Given the description of an element on the screen output the (x, y) to click on. 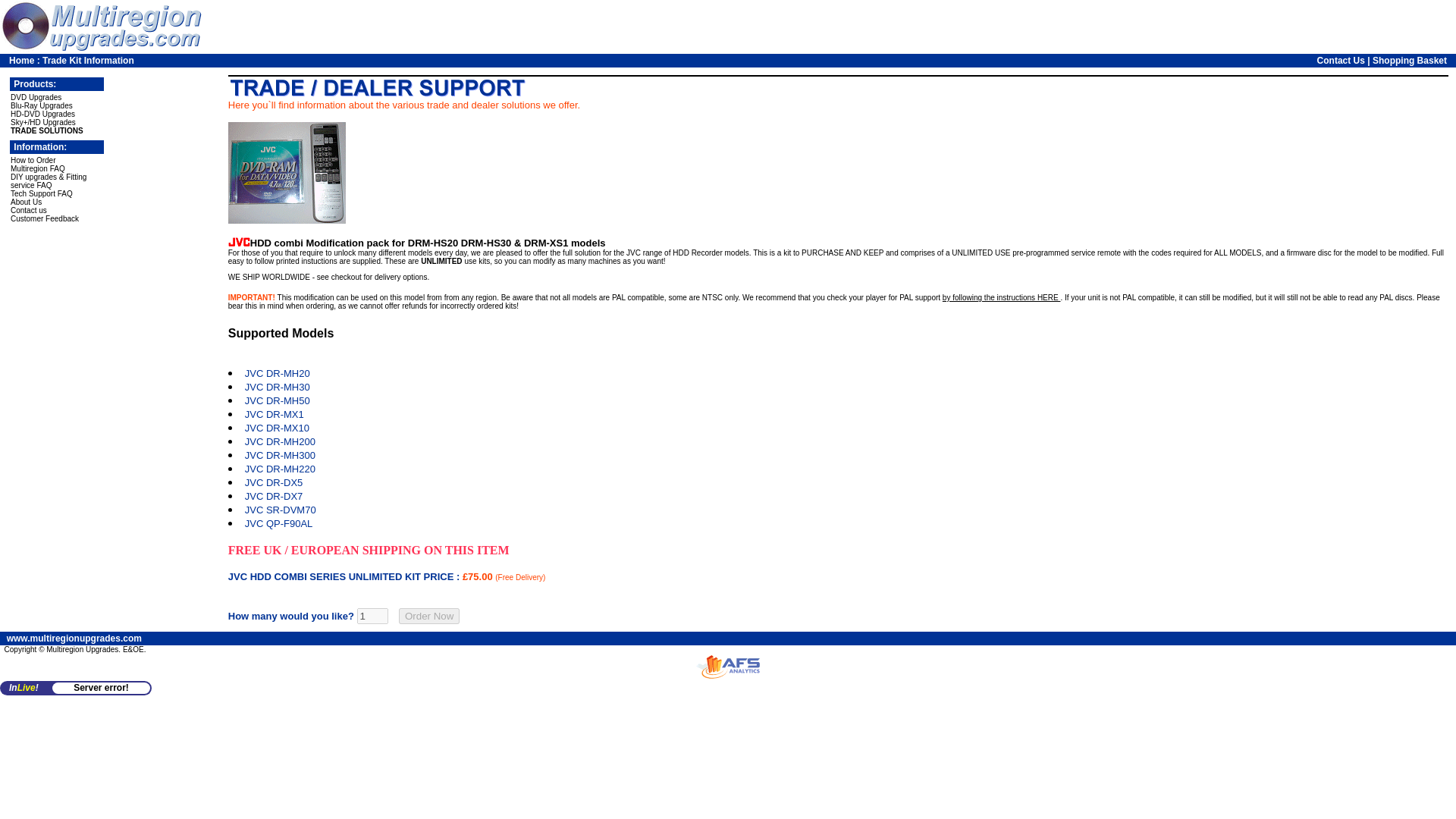
Home (20, 60)
Multiregion FAQ (37, 168)
by following the instructions HERE (1001, 297)
Order Now (429, 616)
Contact us (28, 210)
Customer Feedback (44, 218)
About Us (26, 202)
Server error! (100, 687)
Order Now (429, 616)
Tech Support FAQ (41, 193)
